Given the description of an element on the screen output the (x, y) to click on. 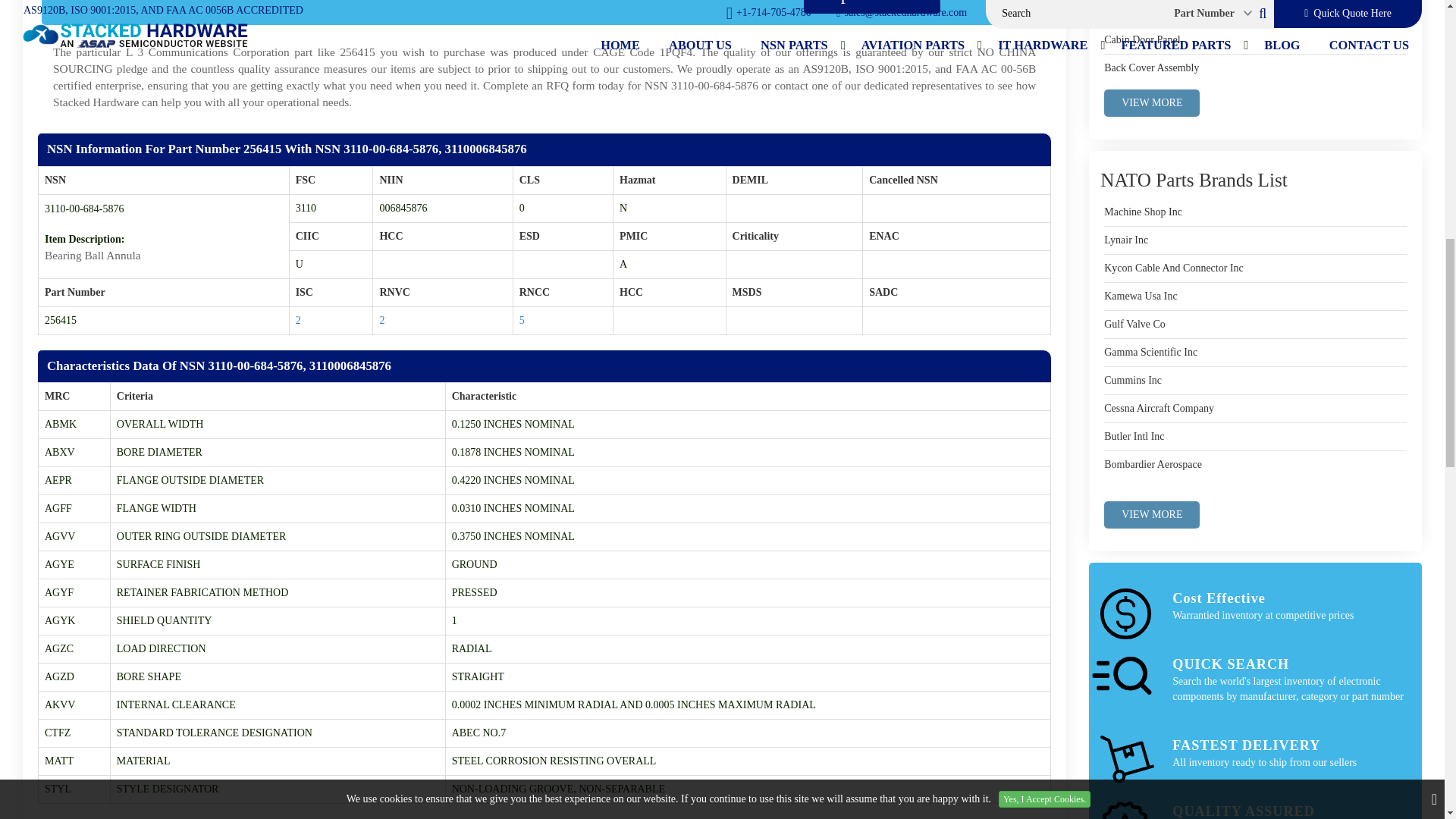
Machine Shop Inc (1142, 212)
